Given the description of an element on the screen output the (x, y) to click on. 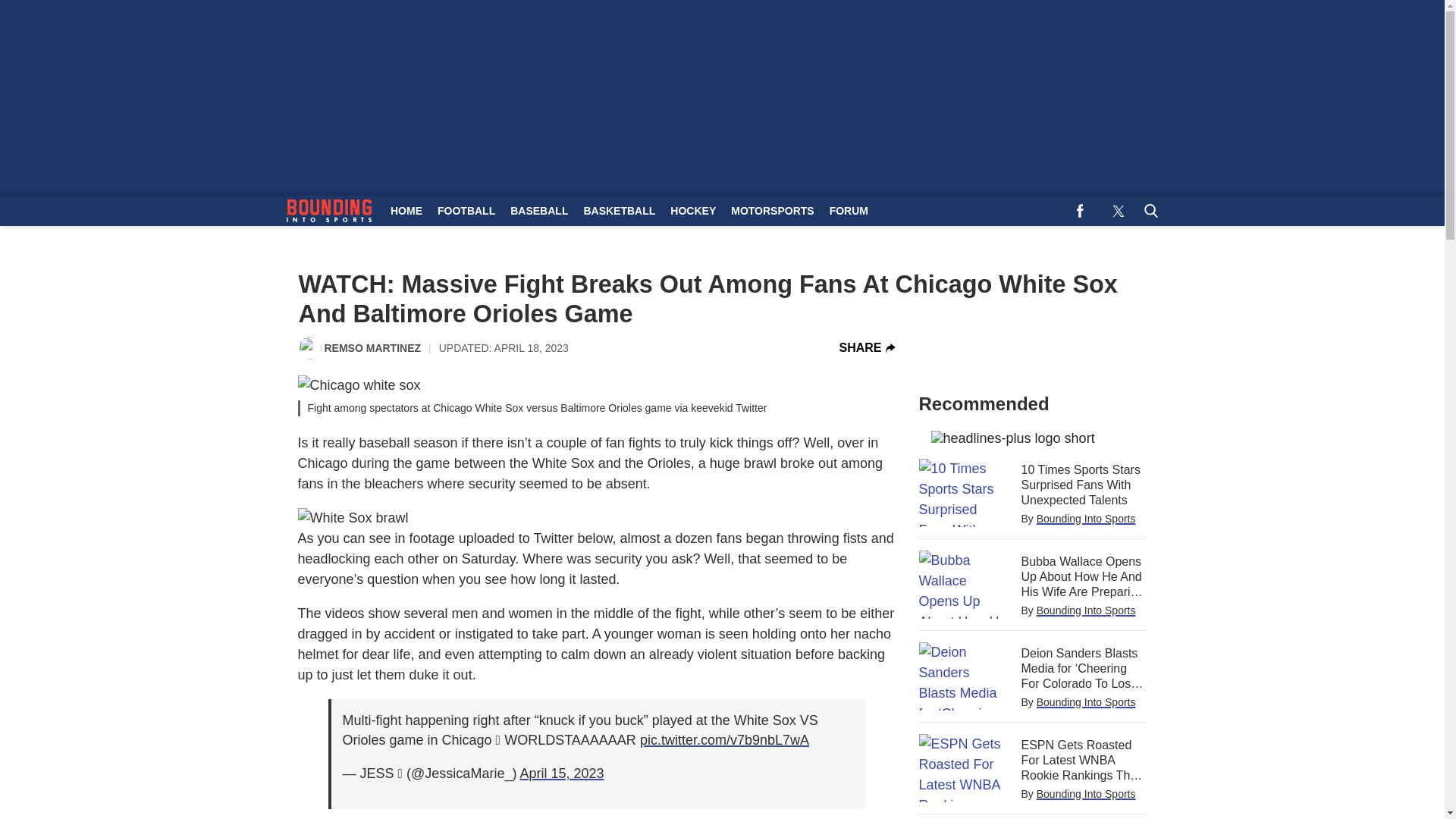
FOOTBALL (465, 210)
BASEBALL (538, 210)
HOME (405, 210)
HOCKEY (692, 210)
Follow us on Twitter (1118, 210)
MOTORSPORTS (772, 210)
BASKETBALL (618, 210)
REMSO MARTINEZ (373, 347)
April 15, 2023 (561, 773)
Posts by Remso Martinez (373, 347)
